Given the description of an element on the screen output the (x, y) to click on. 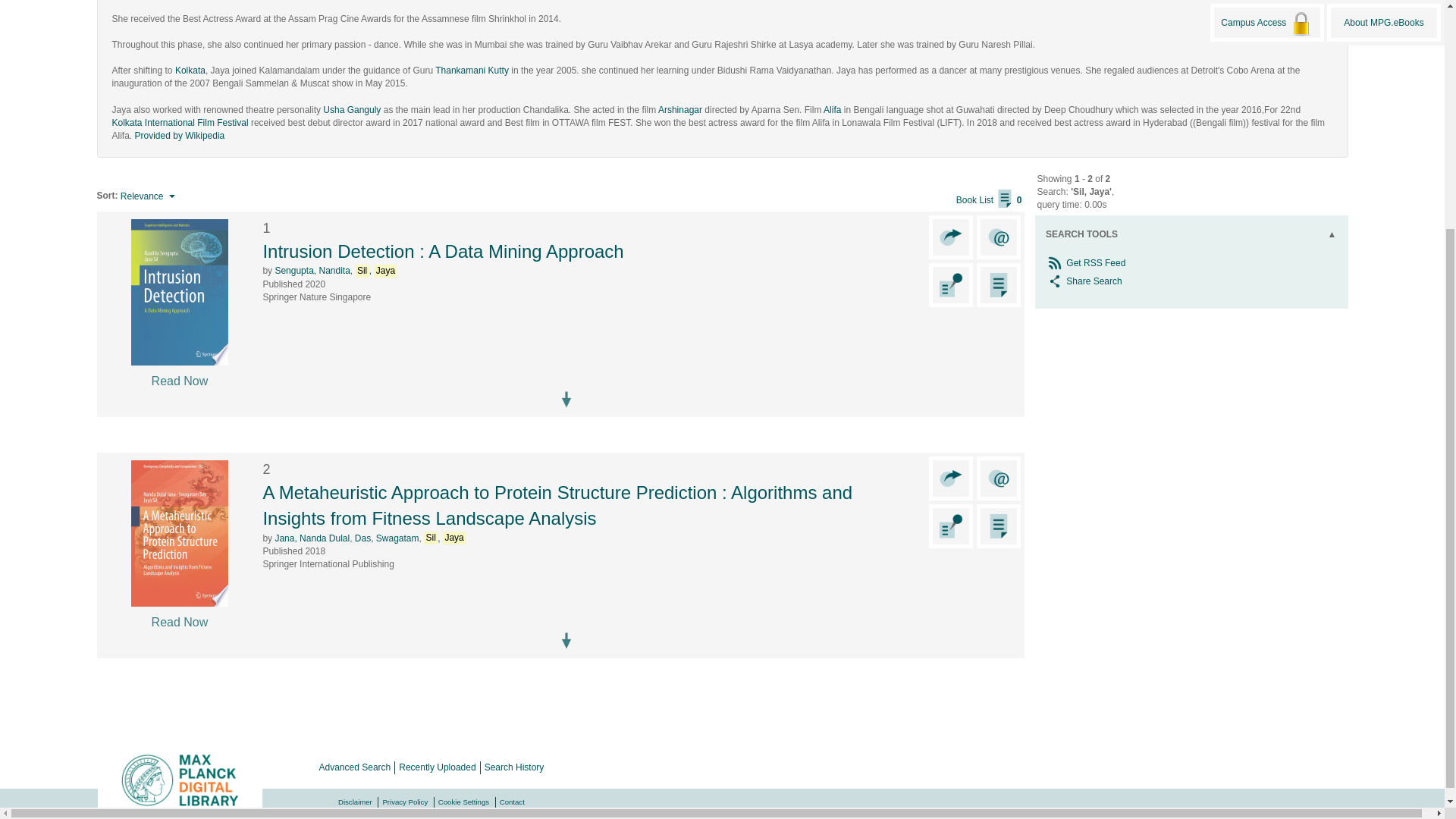
View Book List (989, 199)
Provided by Wikipedia (180, 135)
Arshinagar (679, 109)
Export Record - Intrusion Detection : A Data Mining Approach (951, 236)
Alifa (832, 109)
Kolkata (189, 70)
Thankamani Kutty (471, 70)
Kolkata International Film Festival (180, 122)
Usha Ganguly (351, 109)
Sil, Jaya (376, 270)
